Given the description of an element on the screen output the (x, y) to click on. 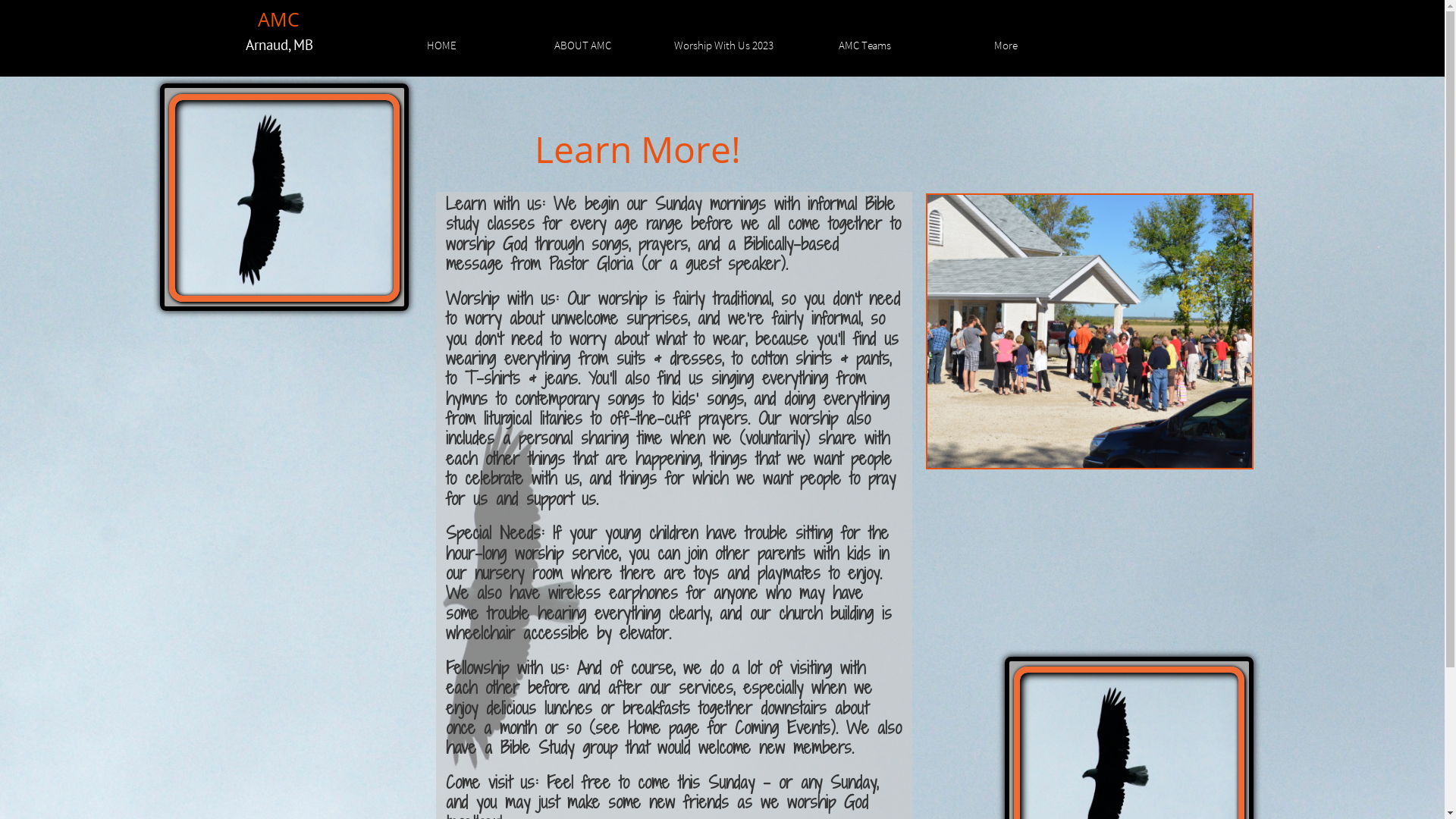
ABOUT AMC Element type: text (582, 42)
HOME Element type: text (441, 42)
AMC Teams Element type: text (864, 42)
Worship With Us 2023 Element type: text (723, 42)
